Given the description of an element on the screen output the (x, y) to click on. 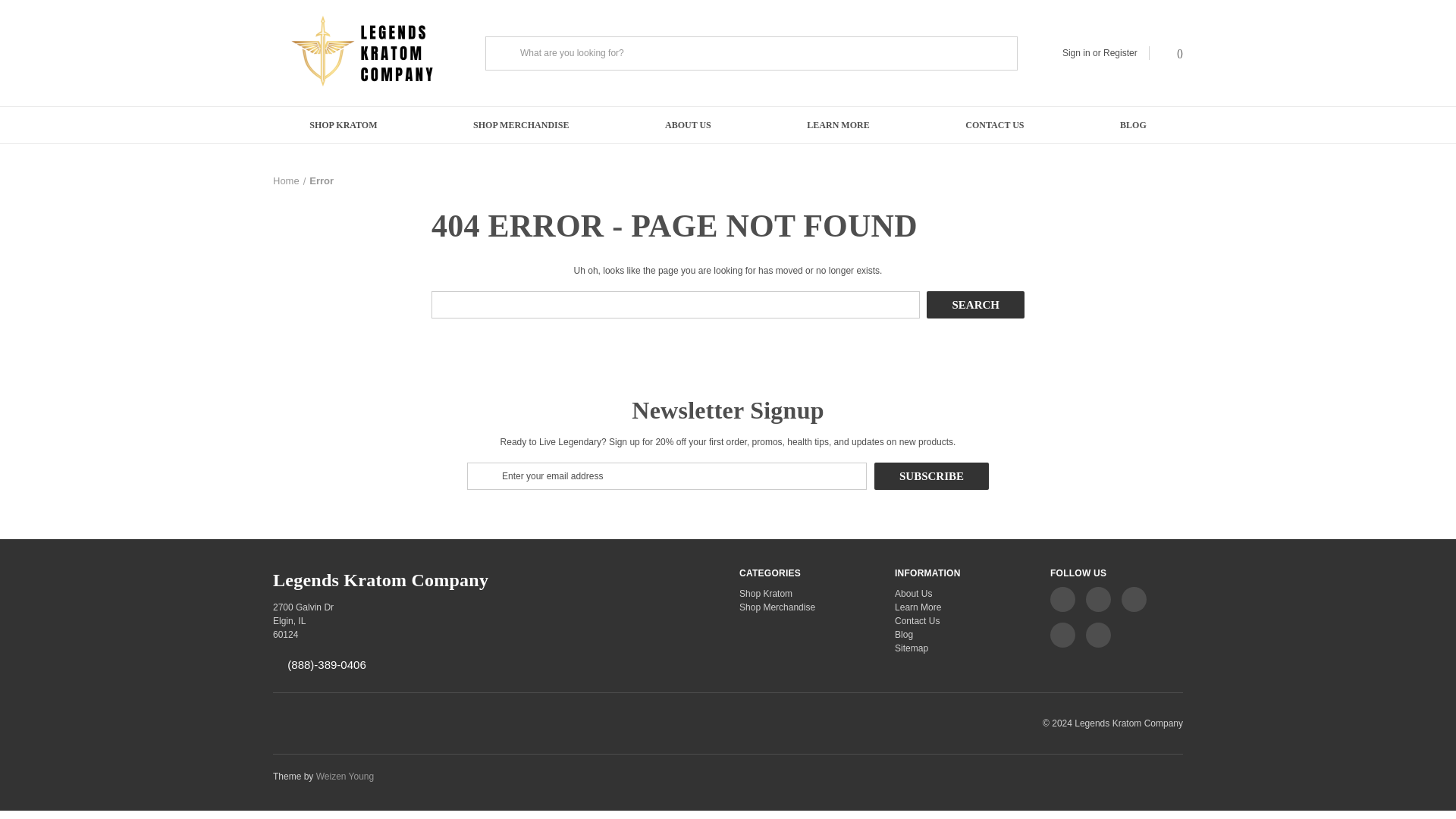
Legends Kratom Company (368, 52)
LEARN MORE (837, 125)
ABOUT US (687, 125)
SHOP KRATOM (343, 125)
Sign in (1076, 52)
SHOP MERCHANDISE (521, 125)
Register (1120, 52)
Search (975, 304)
Subscribe (931, 475)
